Given the description of an element on the screen output the (x, y) to click on. 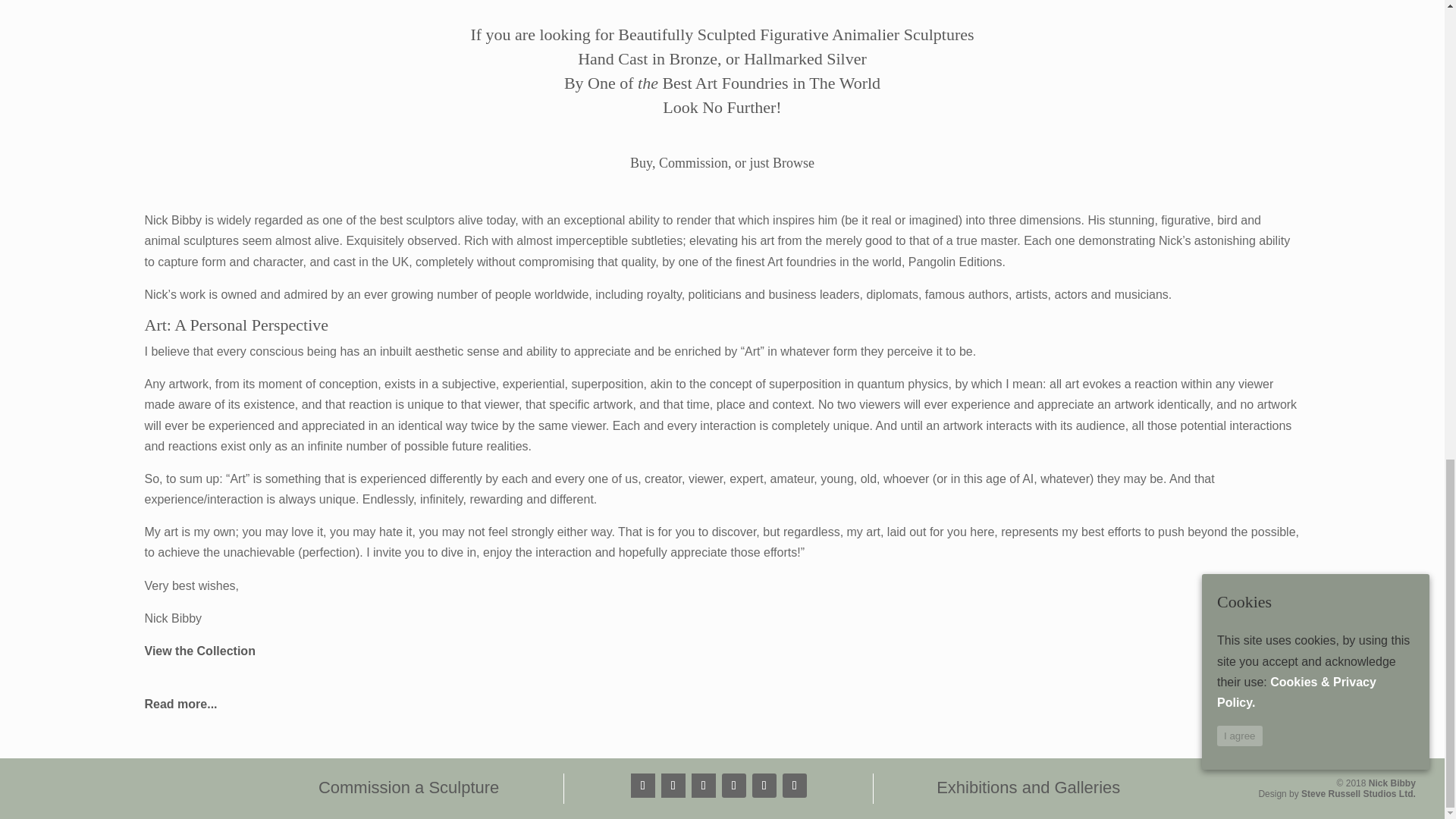
View the Collection (199, 650)
Read more... (180, 703)
Commission a Sculpture (408, 787)
